Given the description of an element on the screen output the (x, y) to click on. 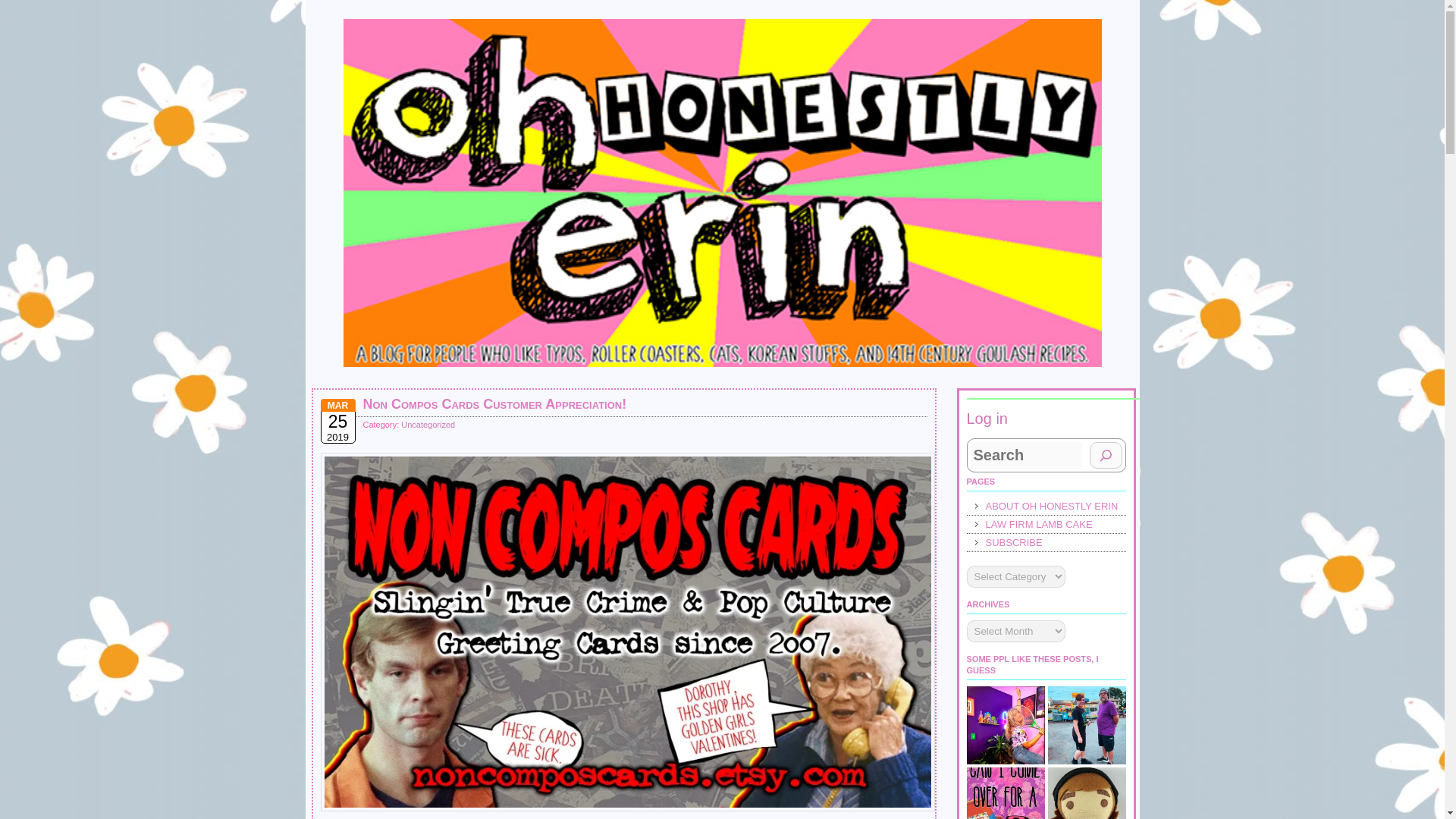
SUBSCRIBE (1045, 542)
Uncategorized (427, 424)
LAW FIRM LAMB CAKE (1045, 524)
Non Compos Cards Customer Appreciation! (494, 403)
Log in (986, 418)
ABOUT OH HONESTLY ERIN (1045, 506)
